Given the description of an element on the screen output the (x, y) to click on. 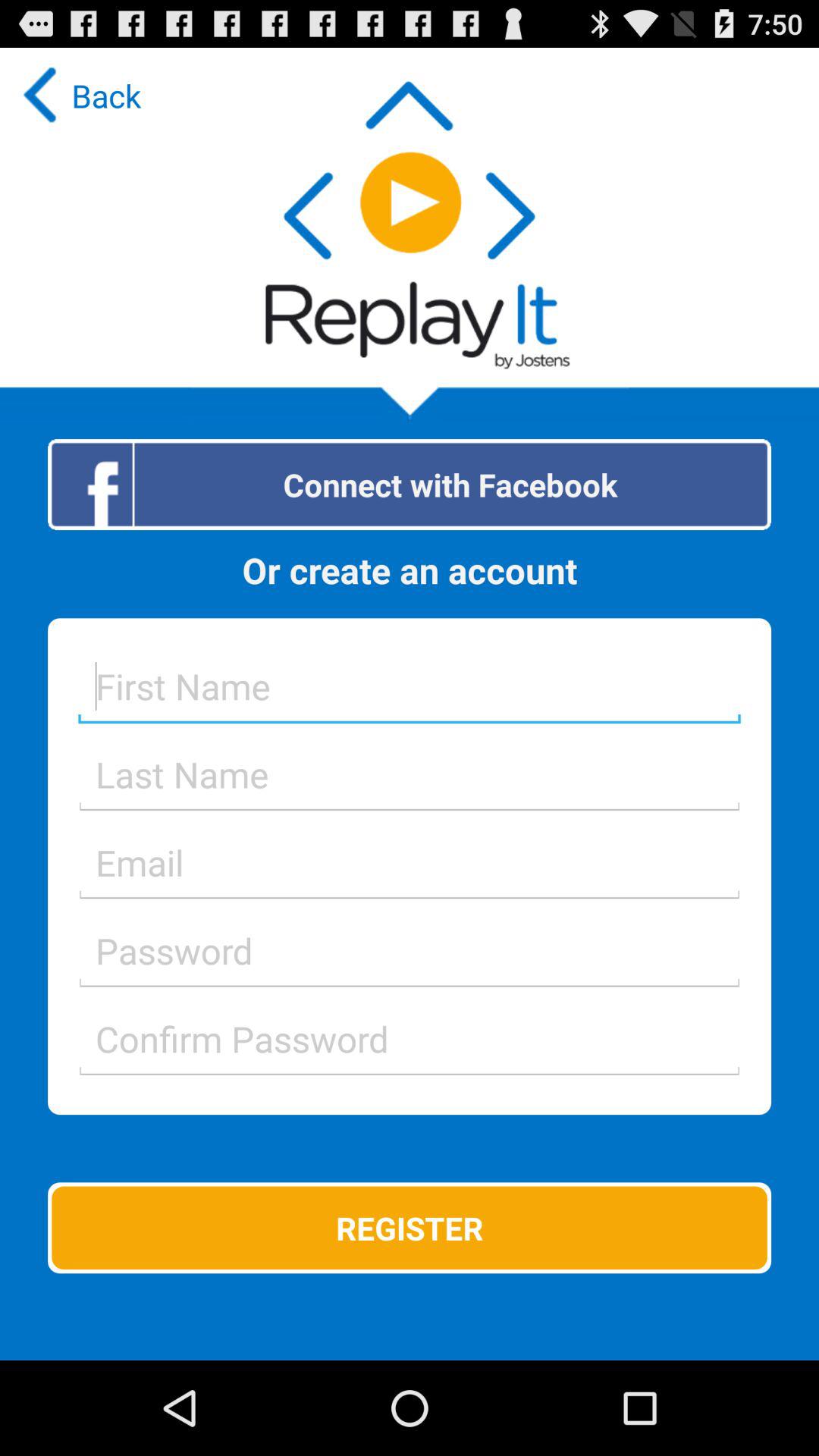
tap register item (409, 1227)
